Given the description of an element on the screen output the (x, y) to click on. 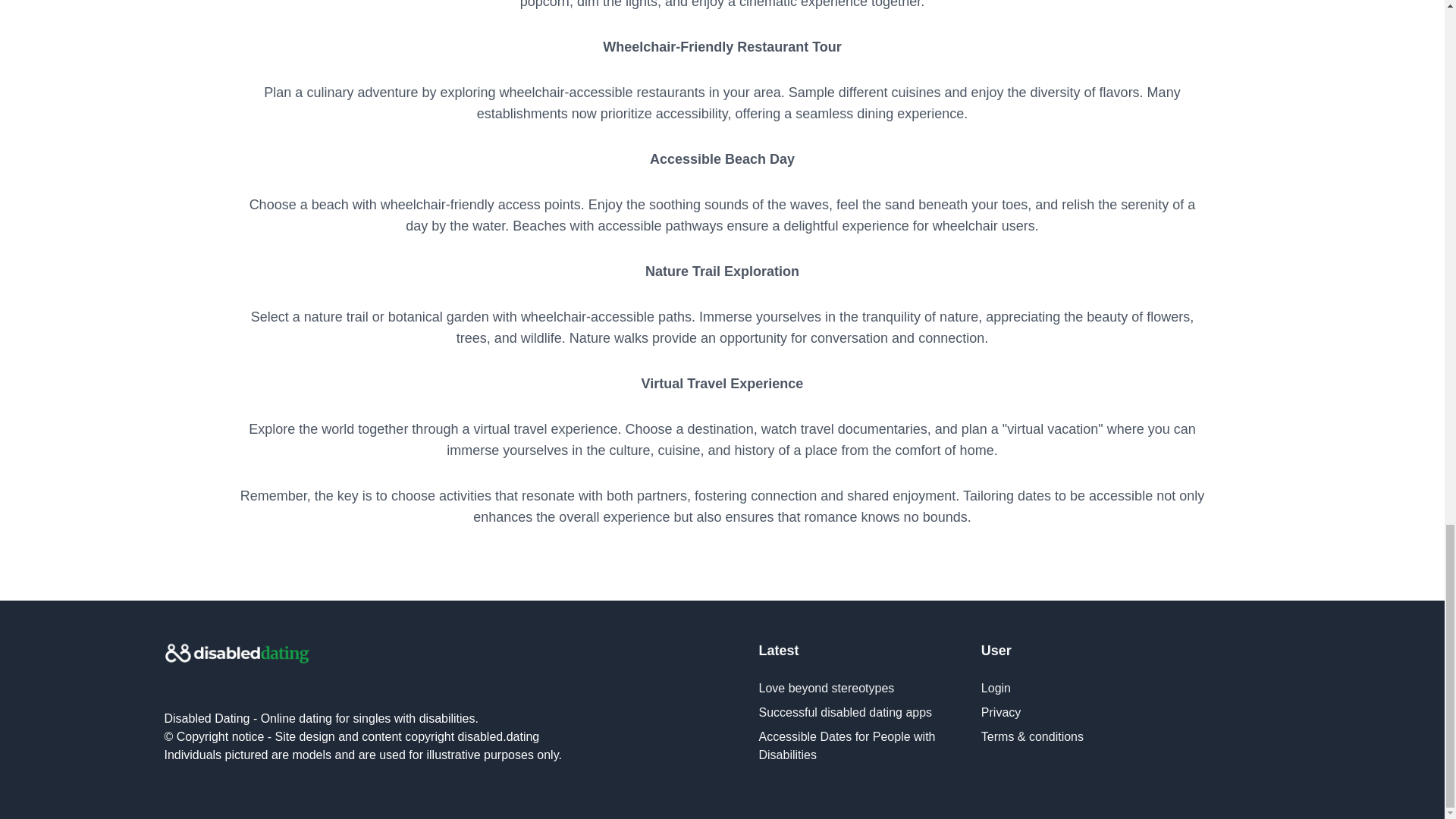
Accessible Dates for People with Disabilities (846, 745)
Login (995, 687)
Successful disabled dating apps (844, 712)
Love beyond stereotypes (825, 687)
Privacy (1000, 712)
